Given the description of an element on the screen output the (x, y) to click on. 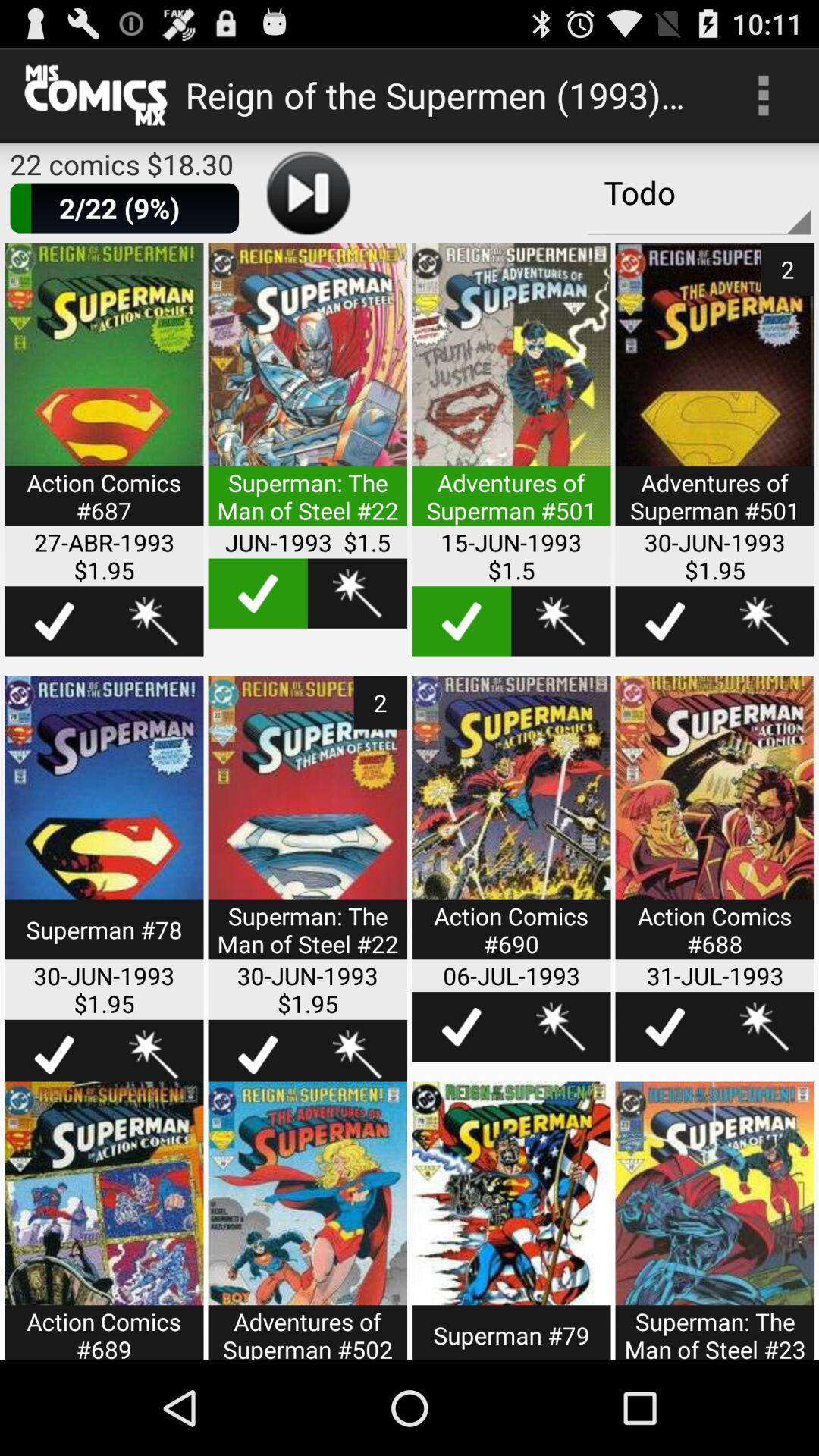
more options (103, 827)
